Given the description of an element on the screen output the (x, y) to click on. 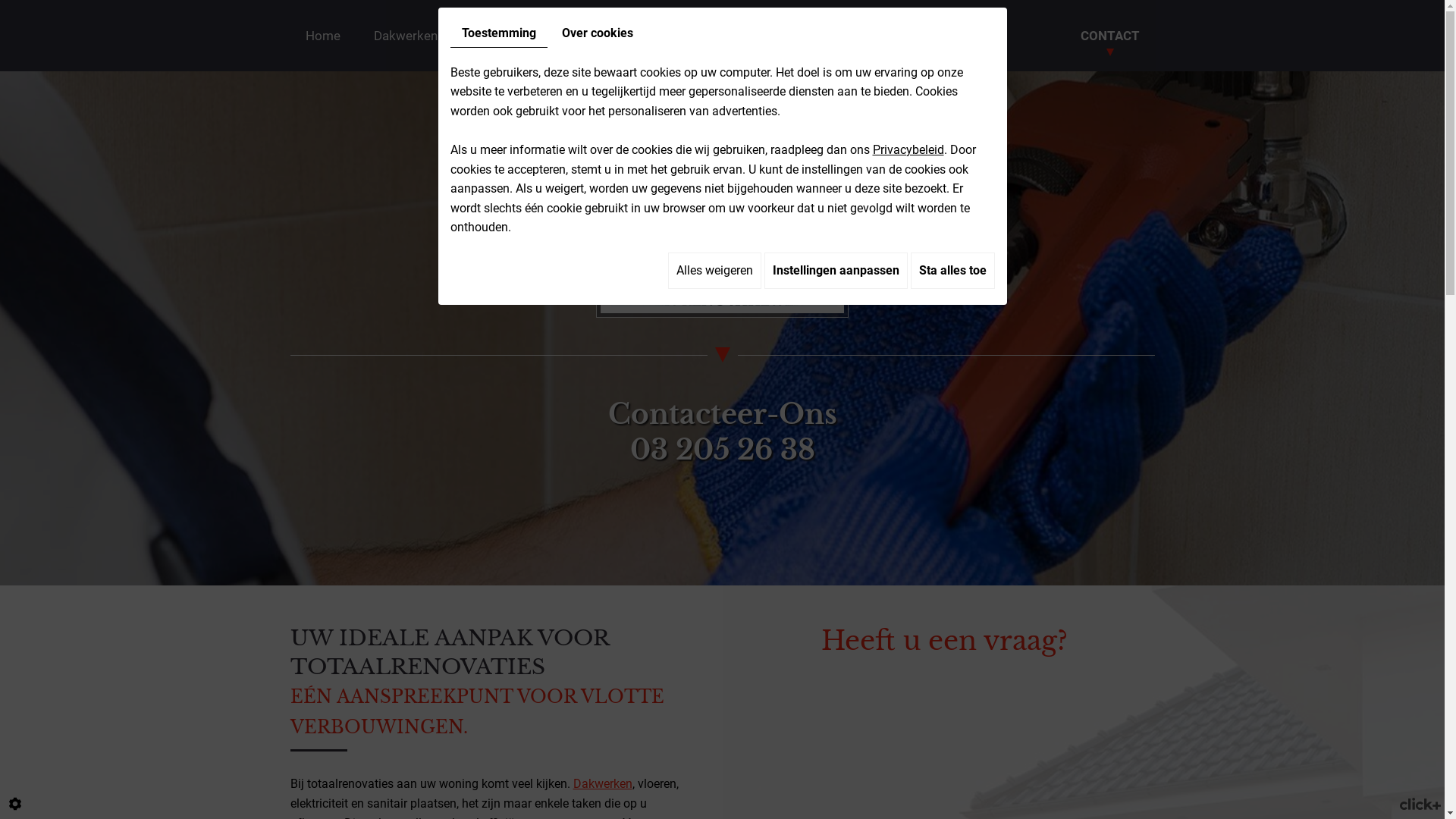
Totaalrenovaties Element type: text (767, 35)
Sta alles toe Element type: text (952, 270)
CONTACT Element type: text (1109, 35)
Loodgieterij Element type: text (504, 35)
Alles weigeren Element type: text (713, 270)
Privacybeleid Element type: text (907, 149)
Over cookies Element type: text (597, 33)
Cookie-instelling bewerken Element type: text (14, 803)
Instellingen aanpassen Element type: text (835, 270)
Elektriciteitswerken Element type: text (629, 35)
Home Element type: text (322, 35)
Toestemming Element type: text (498, 33)
Gerealiseerde Projecten Element type: text (917, 35)
Dakwerken Element type: text (404, 35)
Dakwerken Element type: text (602, 783)
